Given the description of an element on the screen output the (x, y) to click on. 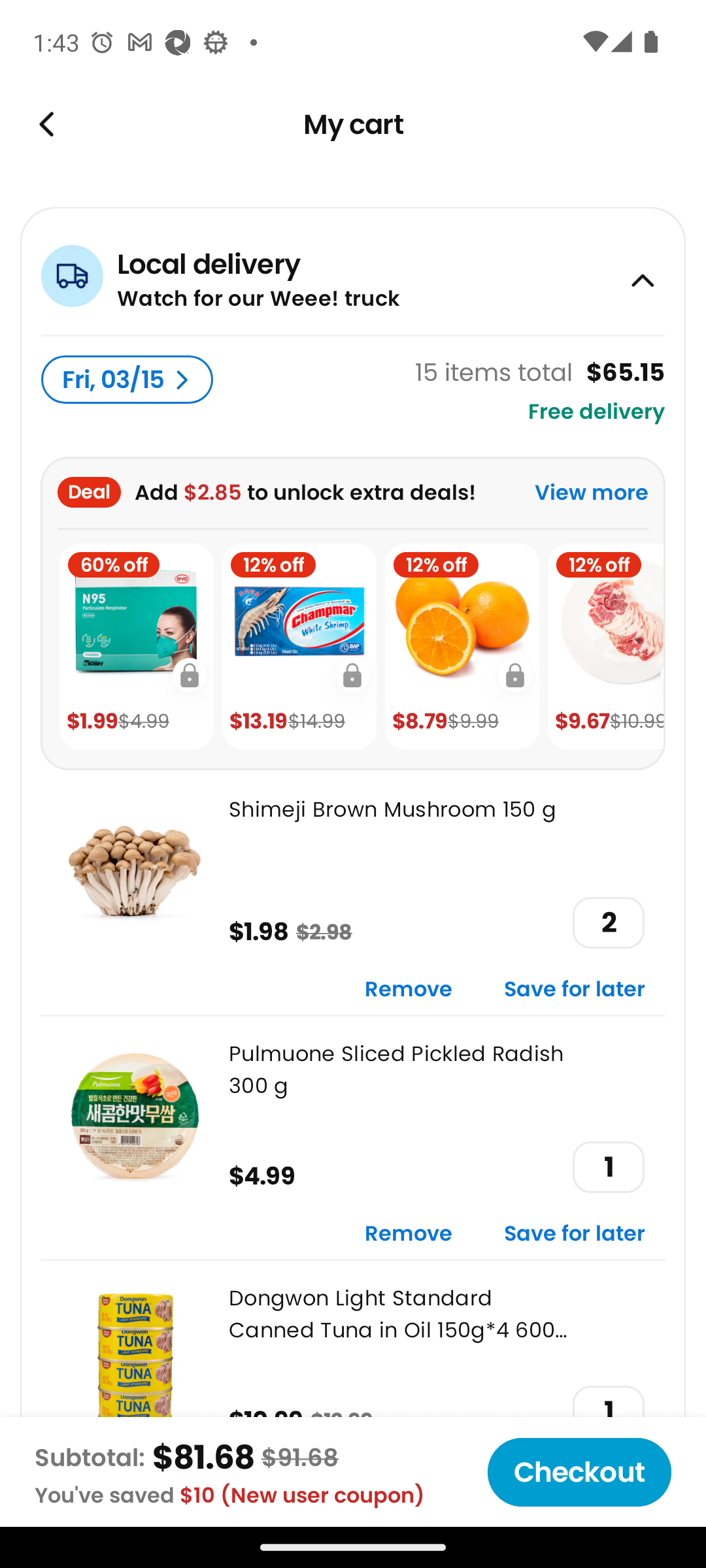
Local delivery Watch for our Weee! truck (352, 269)
Fri, 03/15 (126, 379)
60% off $1.99 $4.99 (136, 646)
12% off $13.19 $14.99 (299, 646)
12% off $8.79 $9.99 (461, 646)
12% off $9.67 $10.99 (605, 646)
2 (608, 922)
Remove (408, 989)
Save for later (574, 989)
1 (608, 1167)
Remove (408, 1234)
Save for later (574, 1234)
Checkout (579, 1471)
